Given the description of an element on the screen output the (x, y) to click on. 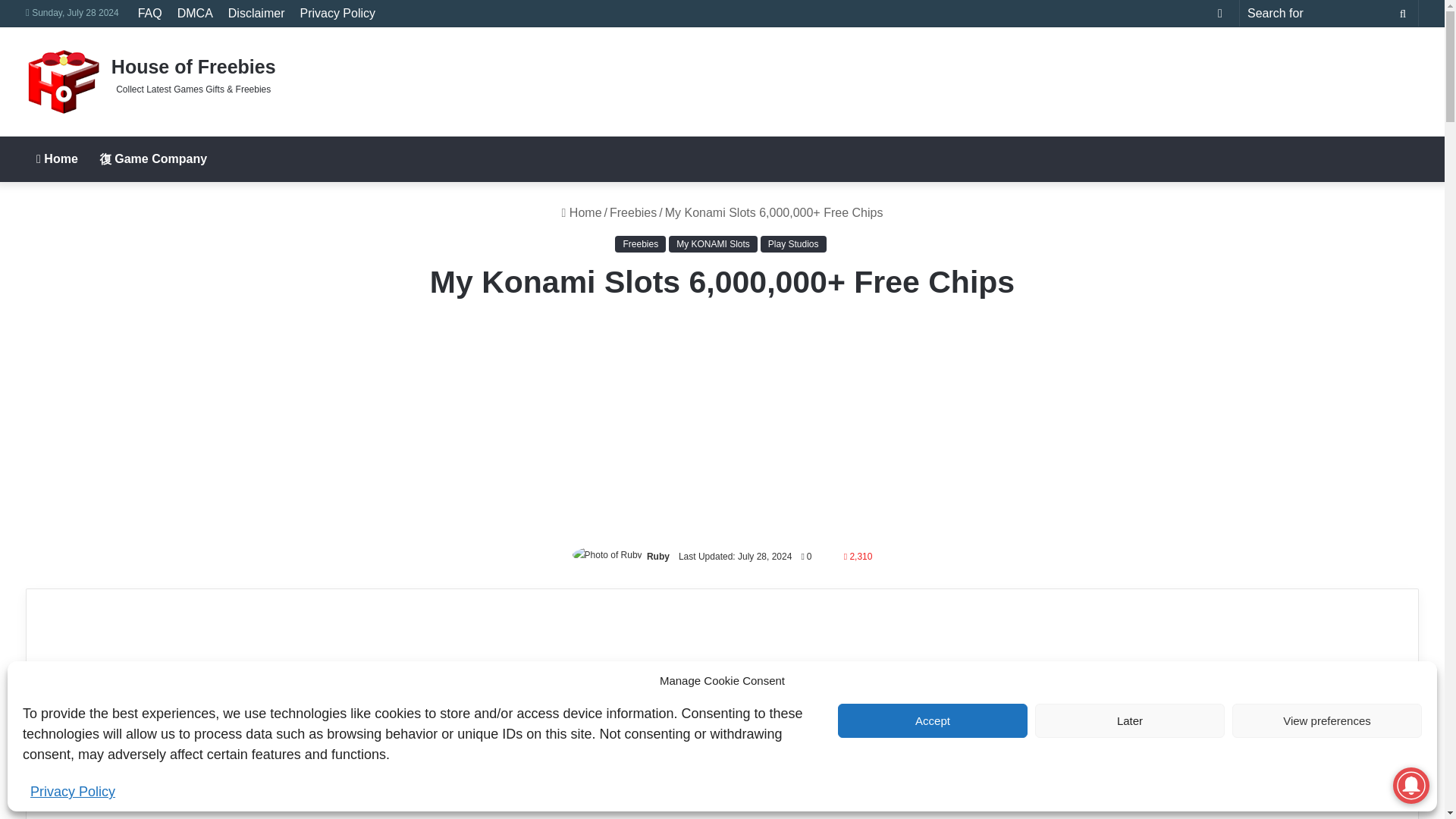
Freebies (633, 212)
Privacy Policy (72, 791)
Home (582, 212)
Advertisement (958, 76)
House of Freebies (151, 81)
FAQ (150, 13)
Freebies (639, 243)
View preferences (1326, 720)
Search for (1402, 13)
Disclaimer (256, 13)
Accept (932, 720)
Privacy Policy (337, 13)
My KONAMI Slots (712, 243)
